Given the description of an element on the screen output the (x, y) to click on. 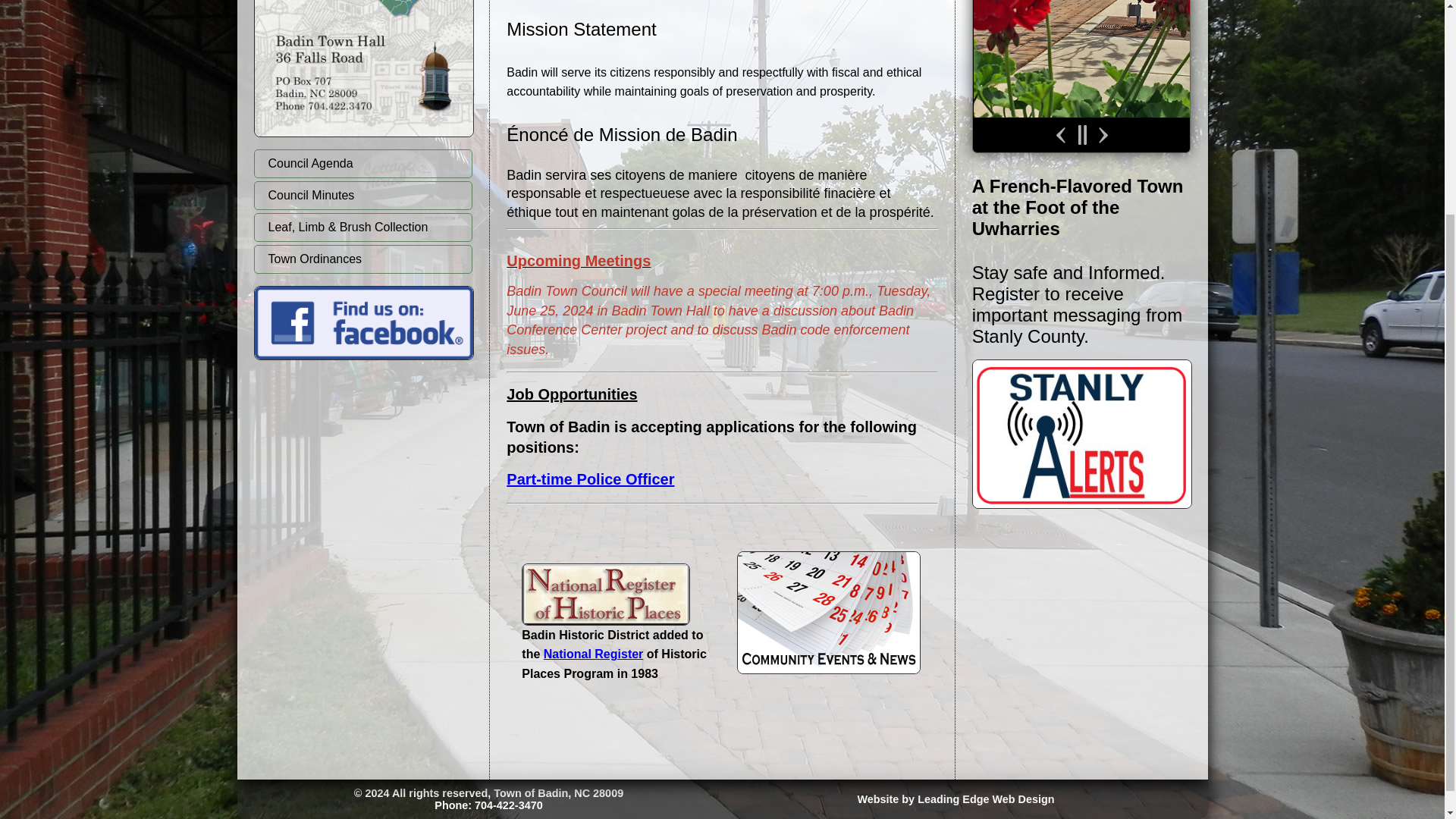
Part-time Police Officer (590, 478)
National Register (593, 653)
Council Agenda (362, 163)
Town Ordinances (362, 258)
Pause (1080, 134)
Council Minutes (362, 194)
